Given the description of an element on the screen output the (x, y) to click on. 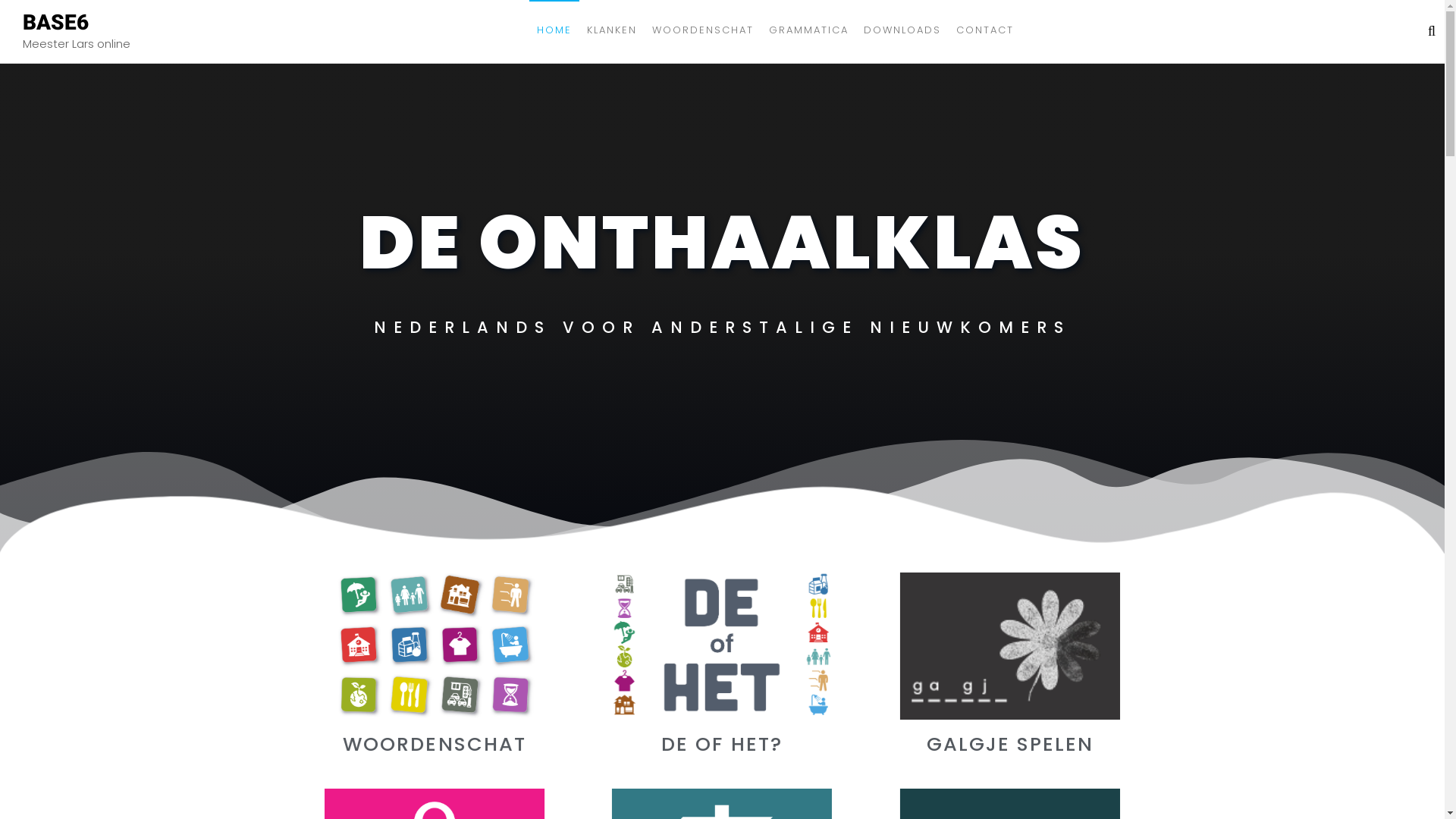
DOWNLOADS Element type: text (902, 30)
WOORDENSCHAT Element type: text (702, 30)
CONTACT Element type: text (984, 30)
HOME Element type: text (554, 30)
BASE6 Element type: text (55, 21)
KLANKEN Element type: text (611, 30)
GRAMMATICA Element type: text (808, 30)
